Given the description of an element on the screen output the (x, y) to click on. 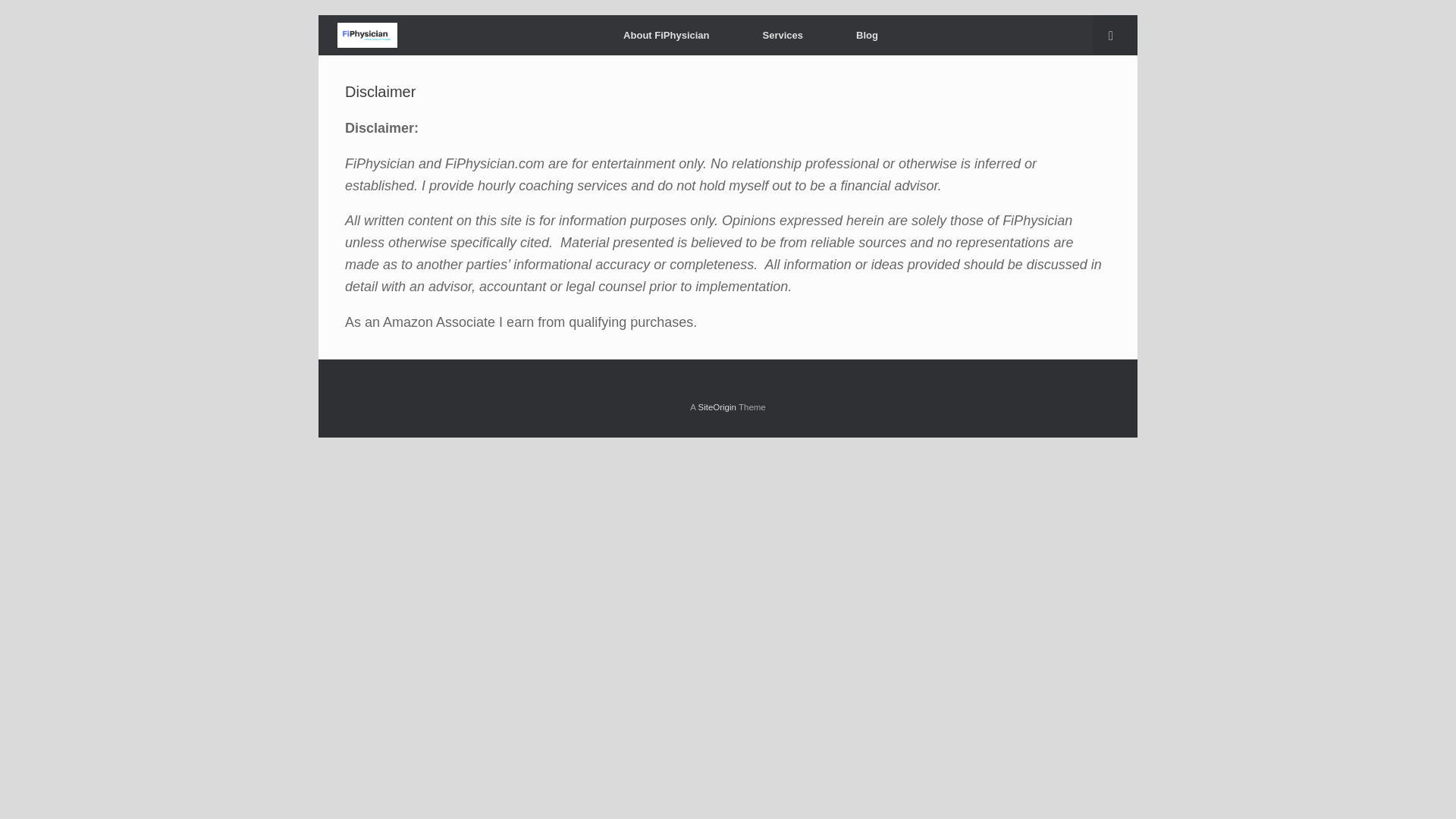
Services (782, 35)
Blog (866, 35)
About FiPhysician (665, 35)
SiteOrigin (716, 406)
FiPhysician (367, 35)
